Given the description of an element on the screen output the (x, y) to click on. 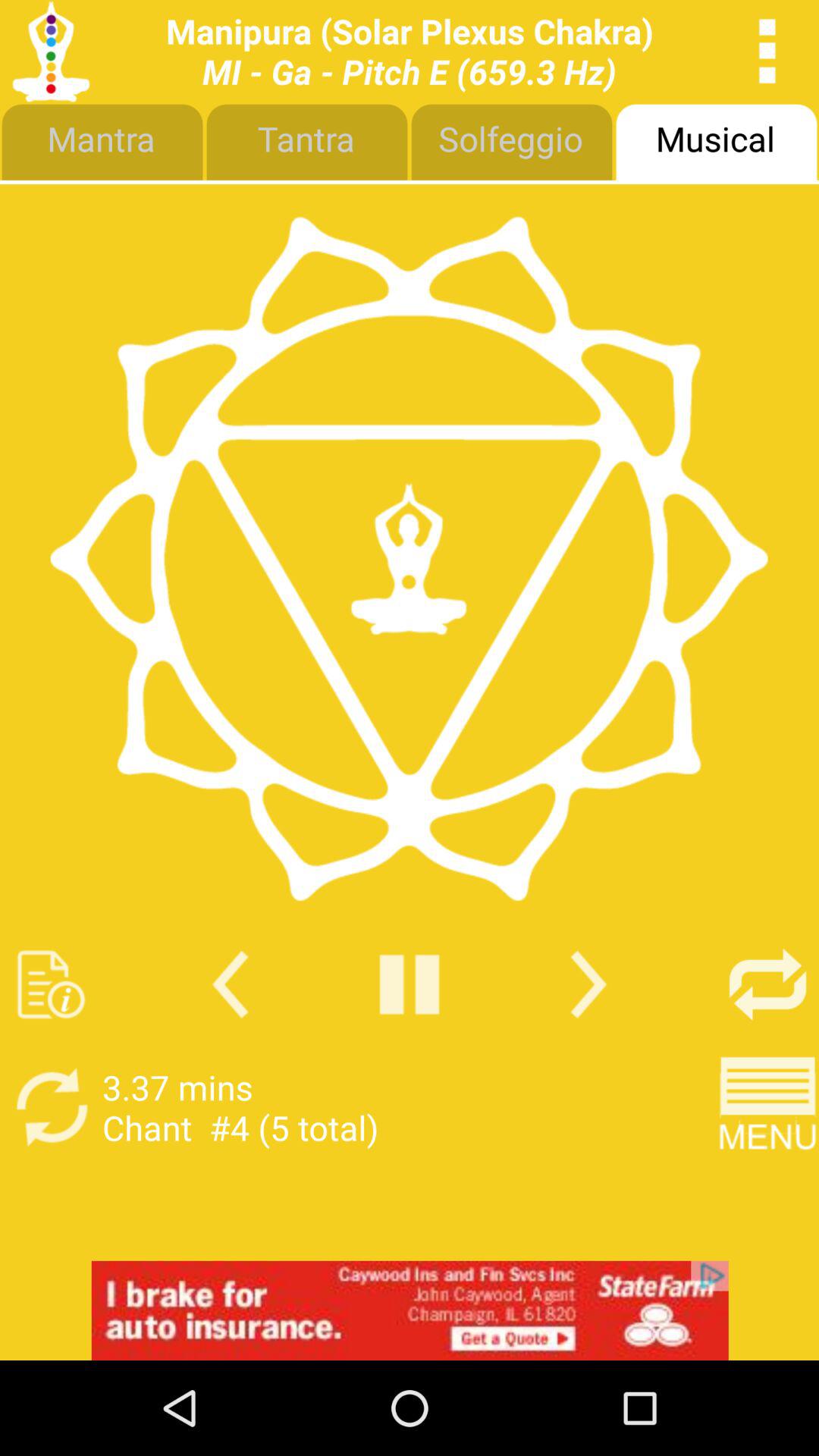
note (51, 984)
